Given the description of an element on the screen output the (x, y) to click on. 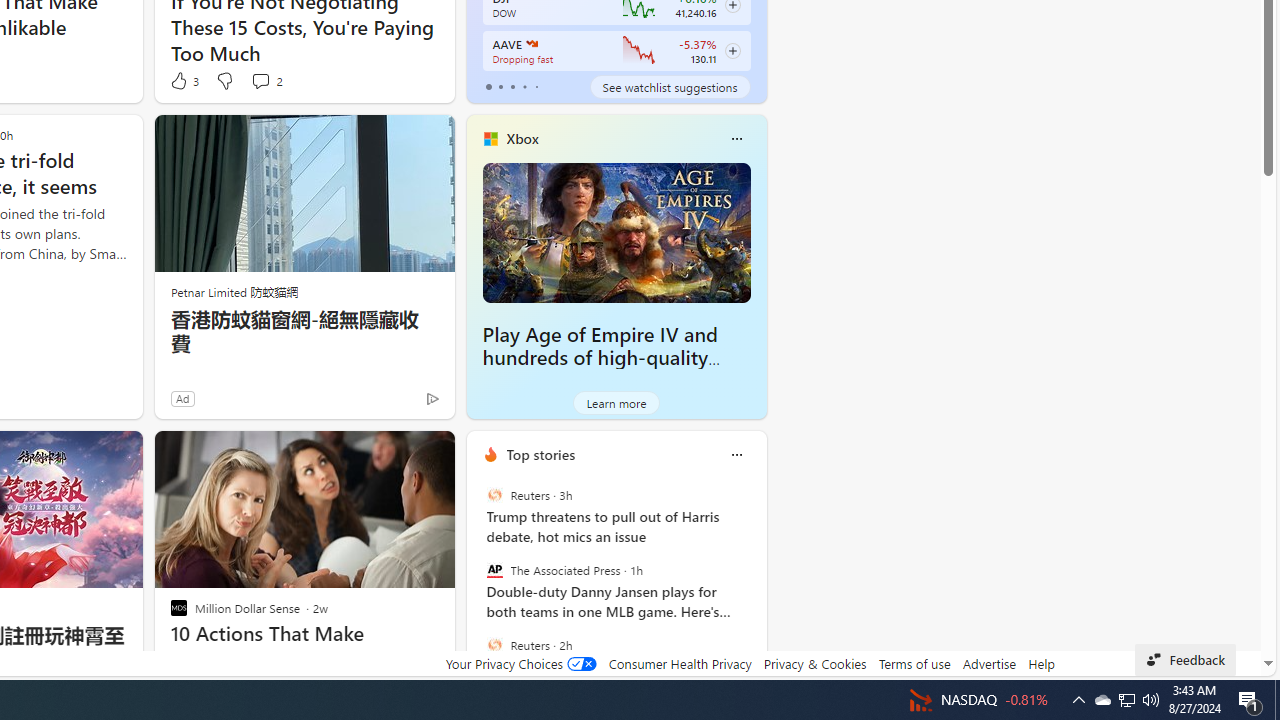
tab-1 (500, 86)
See watchlist suggestions (669, 86)
tab-3 (524, 86)
Xbox (521, 139)
Aave (530, 43)
tab-4 (535, 86)
